Given the description of an element on the screen output the (x, y) to click on. 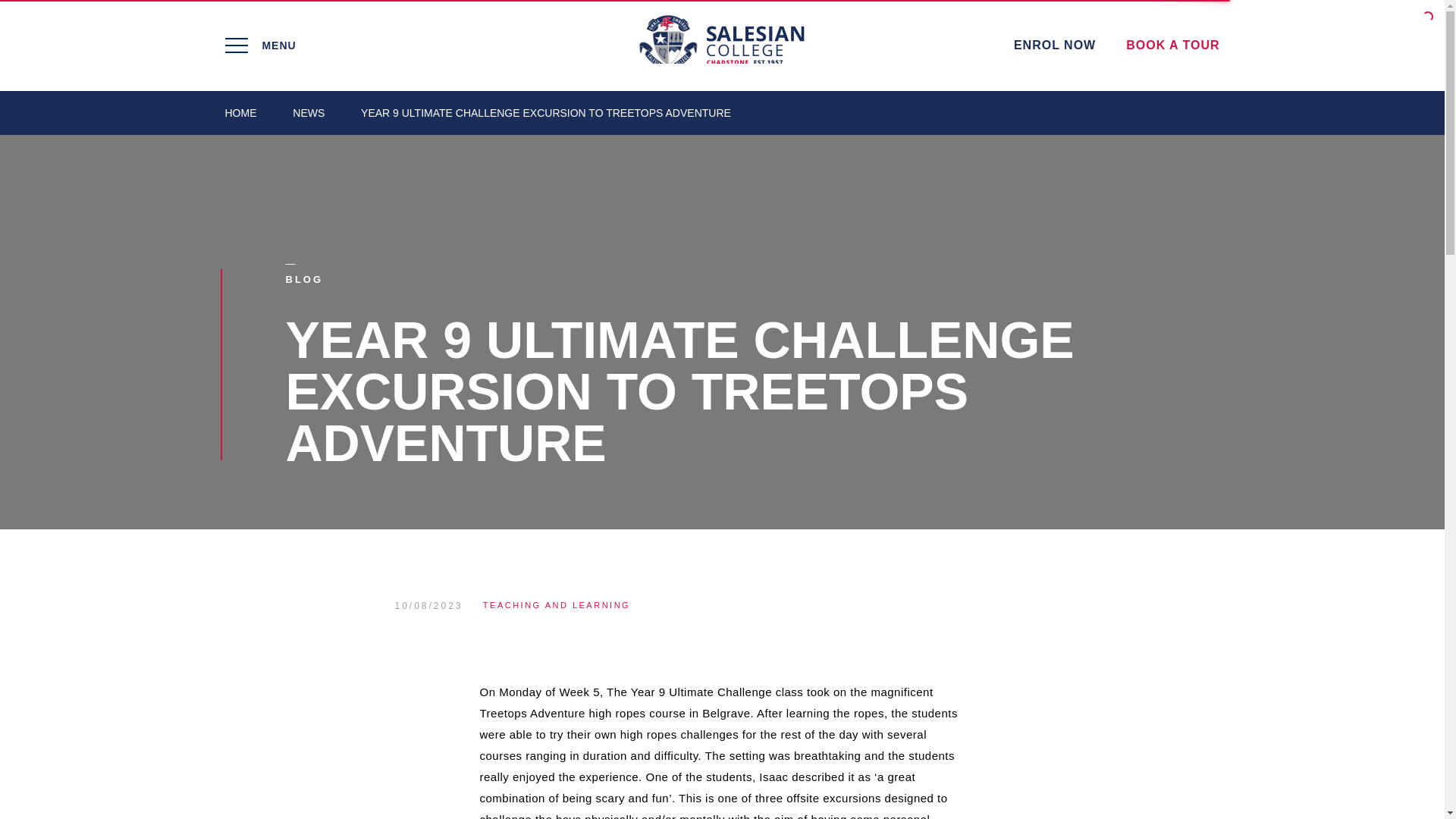
03 9807 2644 (1010, 111)
MENU (390, 45)
BOOK A TOUR (1172, 45)
ENROL NOW (1054, 45)
